Given the description of an element on the screen output the (x, y) to click on. 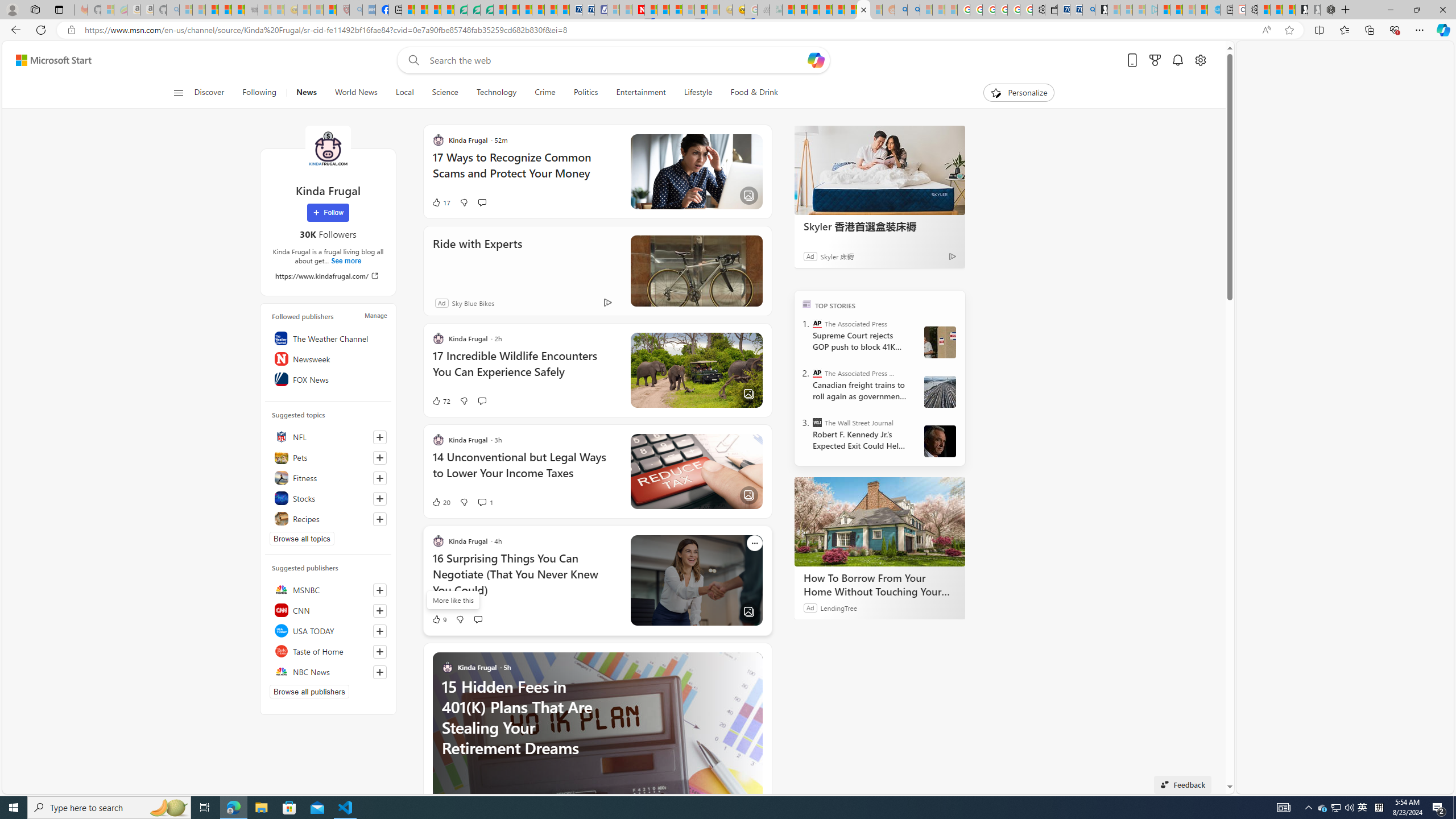
Microsoft-Report a Concern to Bing - Sleeping (107, 9)
Open settings (1199, 60)
Science (444, 92)
How To Borrow From Your Home Without Touching Your Mortgage (879, 584)
View comments 1 Comment (485, 502)
Recipes - MSN - Sleeping (303, 9)
Browse all topics (301, 538)
Crime (544, 92)
Student Loan Update: Forgiveness Program Ends This Month (826, 9)
Dislike (458, 619)
Ad Choice (606, 302)
